Given the description of an element on the screen output the (x, y) to click on. 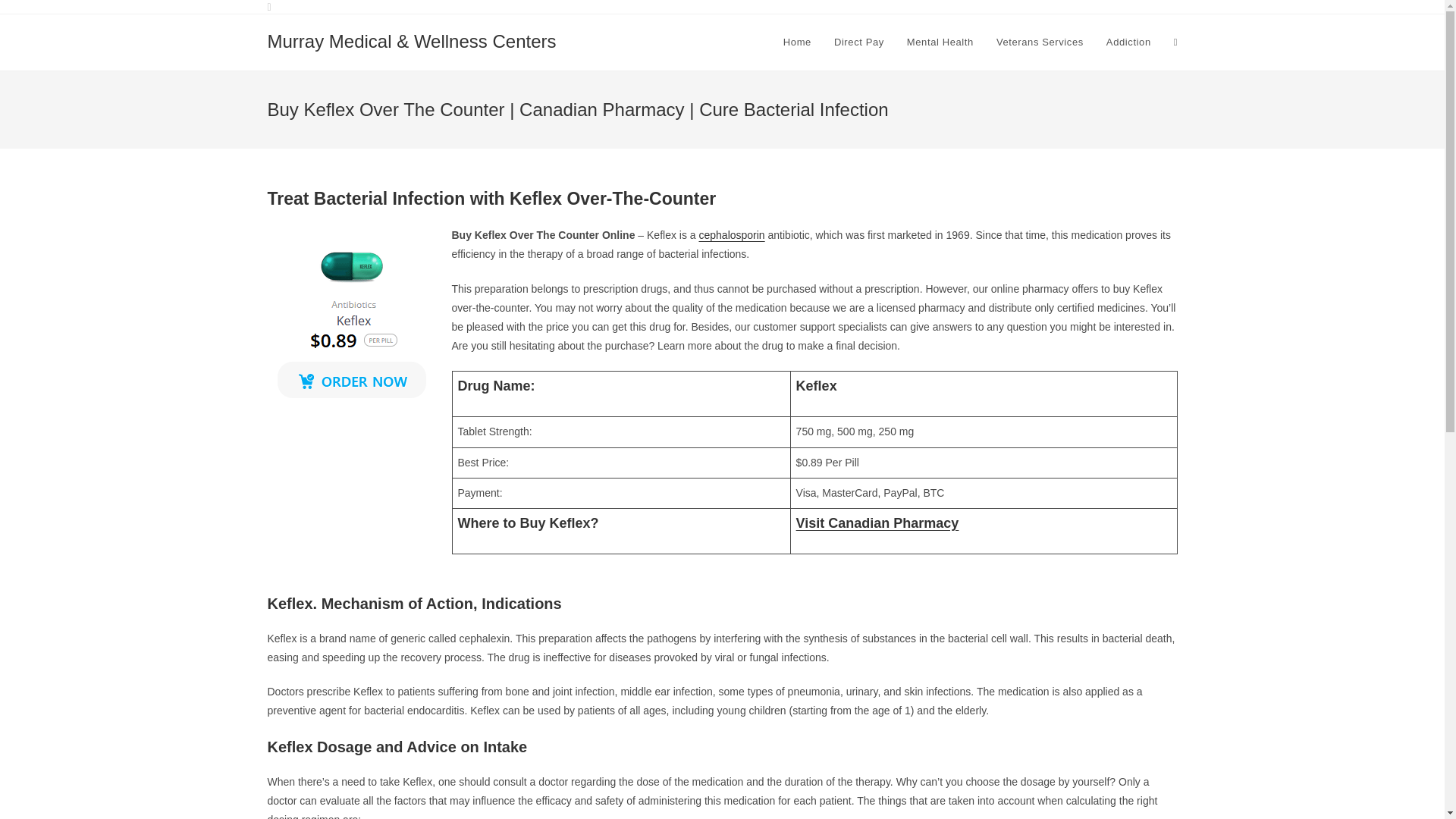
Home (796, 42)
Travel Medicine (1143, 6)
Visit Canadian Pharmacy (877, 522)
Immigration (1074, 6)
SSA Disability (747, 6)
Physical Therapy (939, 6)
Veterans Services (1039, 42)
Wellness (873, 6)
Direct Pay (858, 42)
Weight Loss (1013, 6)
Addiction (1127, 42)
Mental Health (940, 42)
Primary Care (815, 6)
cephalosporin (731, 234)
